Given the description of an element on the screen output the (x, y) to click on. 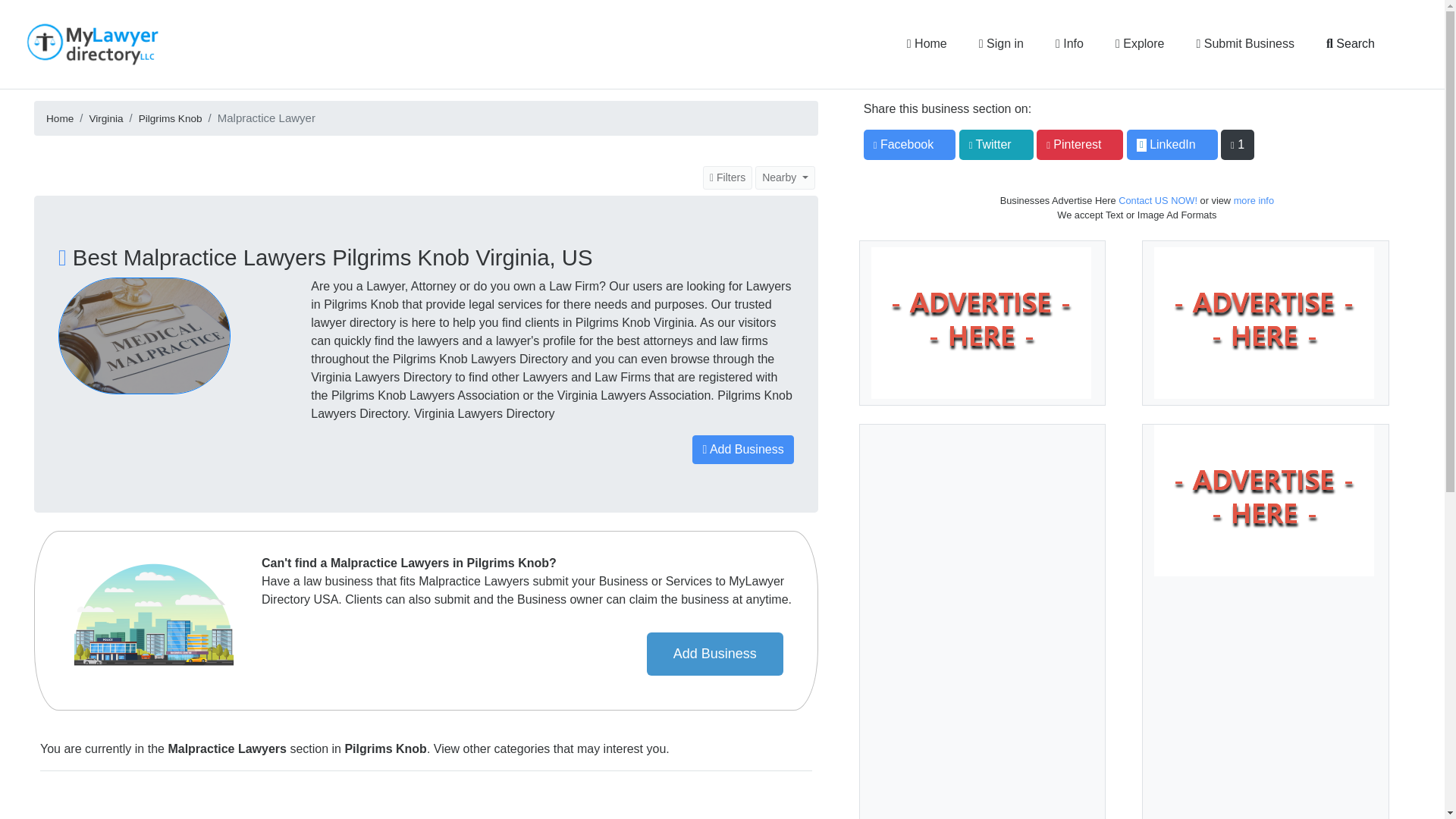
Info (1069, 43)
Submit Business (1244, 43)
Search (1350, 43)
Home (926, 43)
Sign in (1001, 43)
Explore (1139, 43)
